Given the description of an element on the screen output the (x, y) to click on. 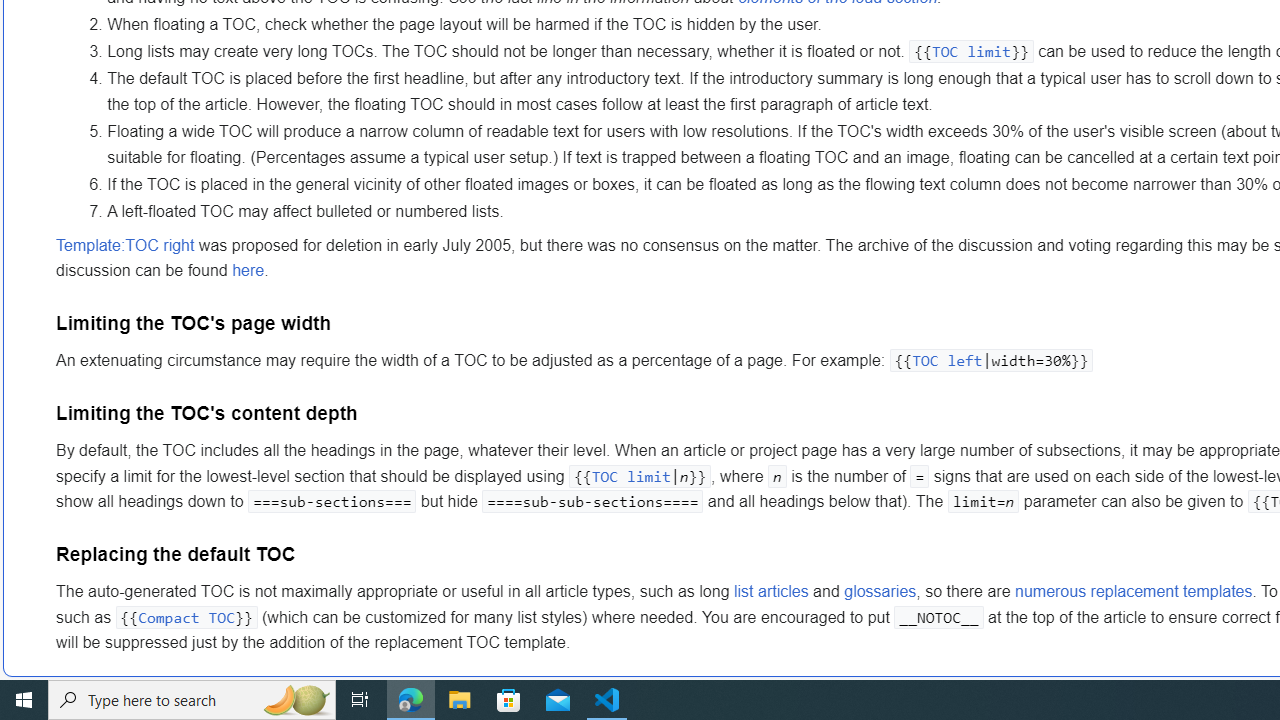
Template:TOC right (125, 245)
glossaries (879, 592)
numerous replacement templates (1134, 592)
TOC left (947, 360)
TOC limit (630, 475)
list articles (770, 592)
here (247, 271)
Compact TOC (186, 616)
